Given the description of an element on the screen output the (x, y) to click on. 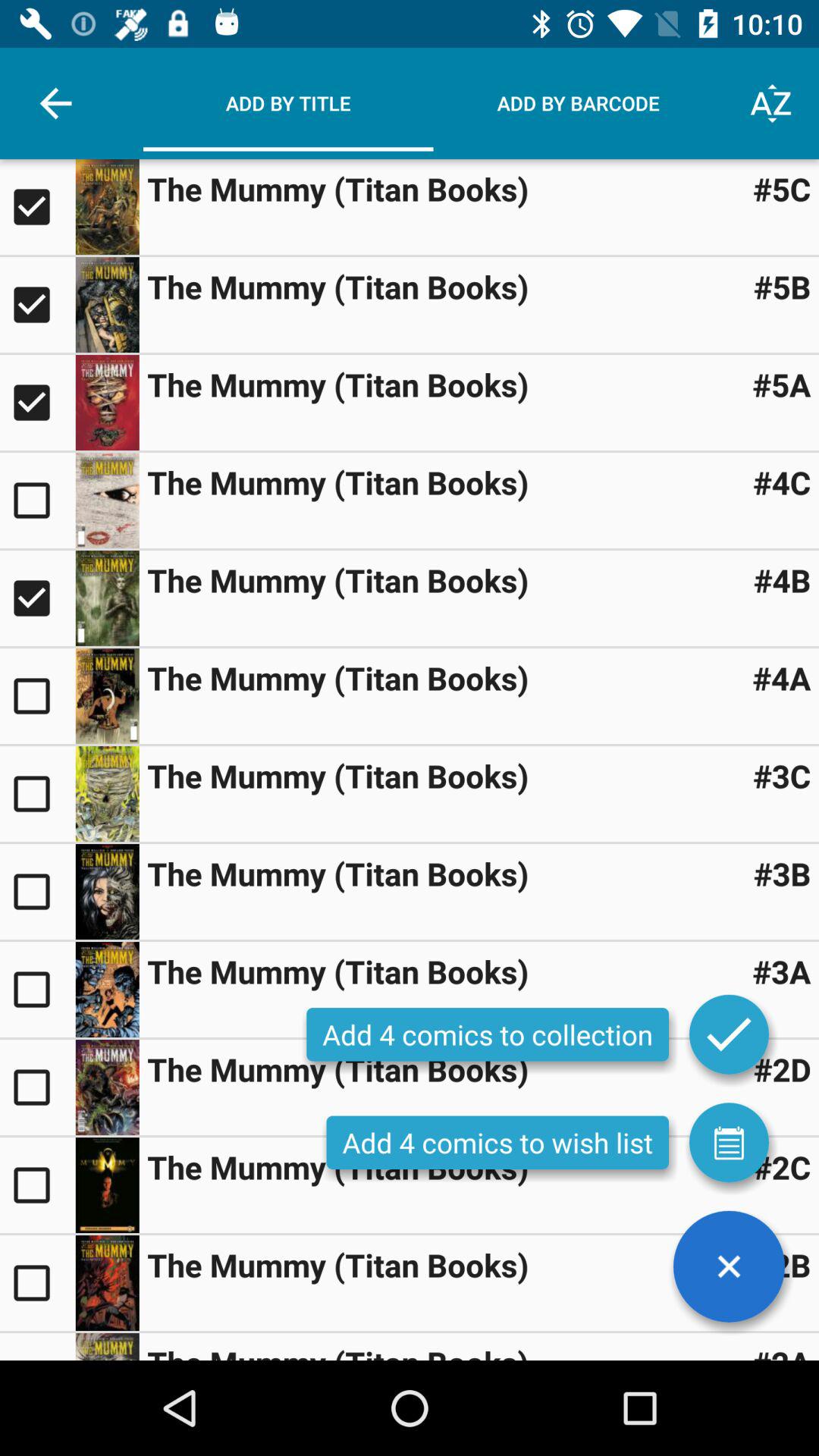
check item (37, 1282)
